Given the description of an element on the screen output the (x, y) to click on. 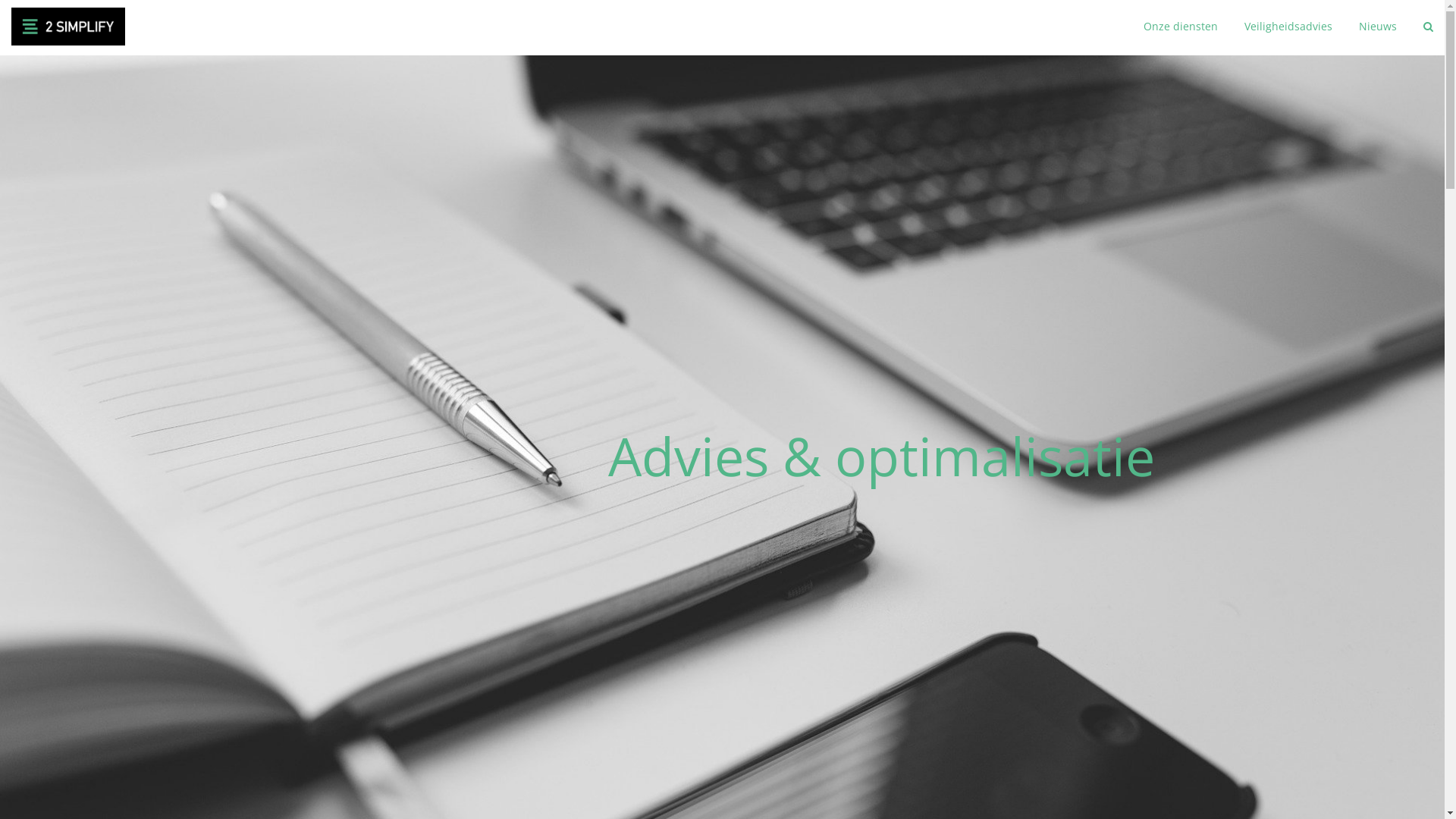
Onze diensten Element type: text (1180, 27)
Veiligheidsadvies Element type: text (1288, 27)
Nieuws Element type: text (1377, 27)
